Given the description of an element on the screen output the (x, y) to click on. 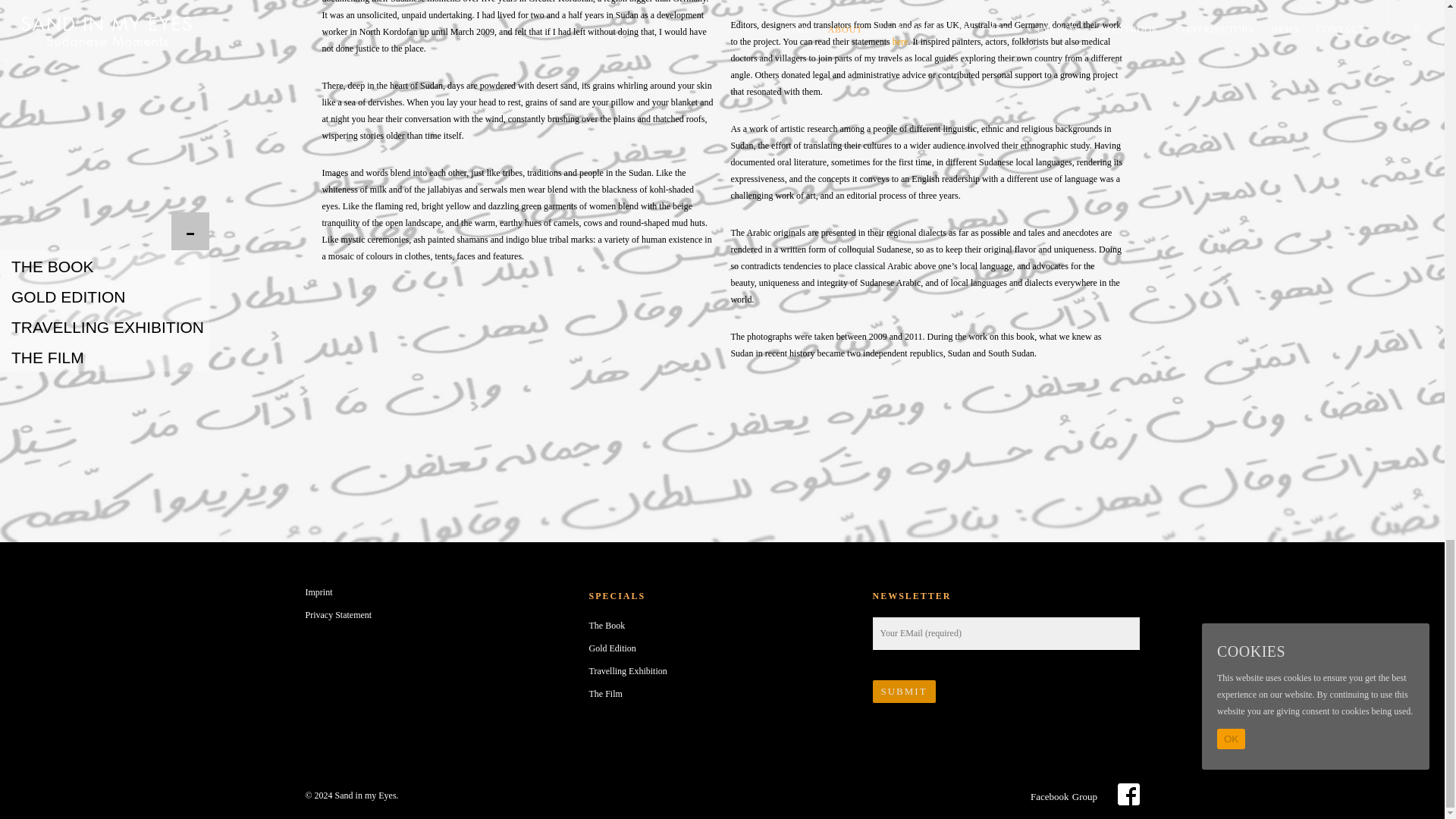
The Film (722, 693)
Privacy Statement (438, 614)
here (900, 41)
Submit (903, 691)
The Book (722, 625)
Imprint (438, 591)
Travelling Exhibition (722, 670)
Submit (903, 691)
Gold Edition (722, 647)
